Given the description of an element on the screen output the (x, y) to click on. 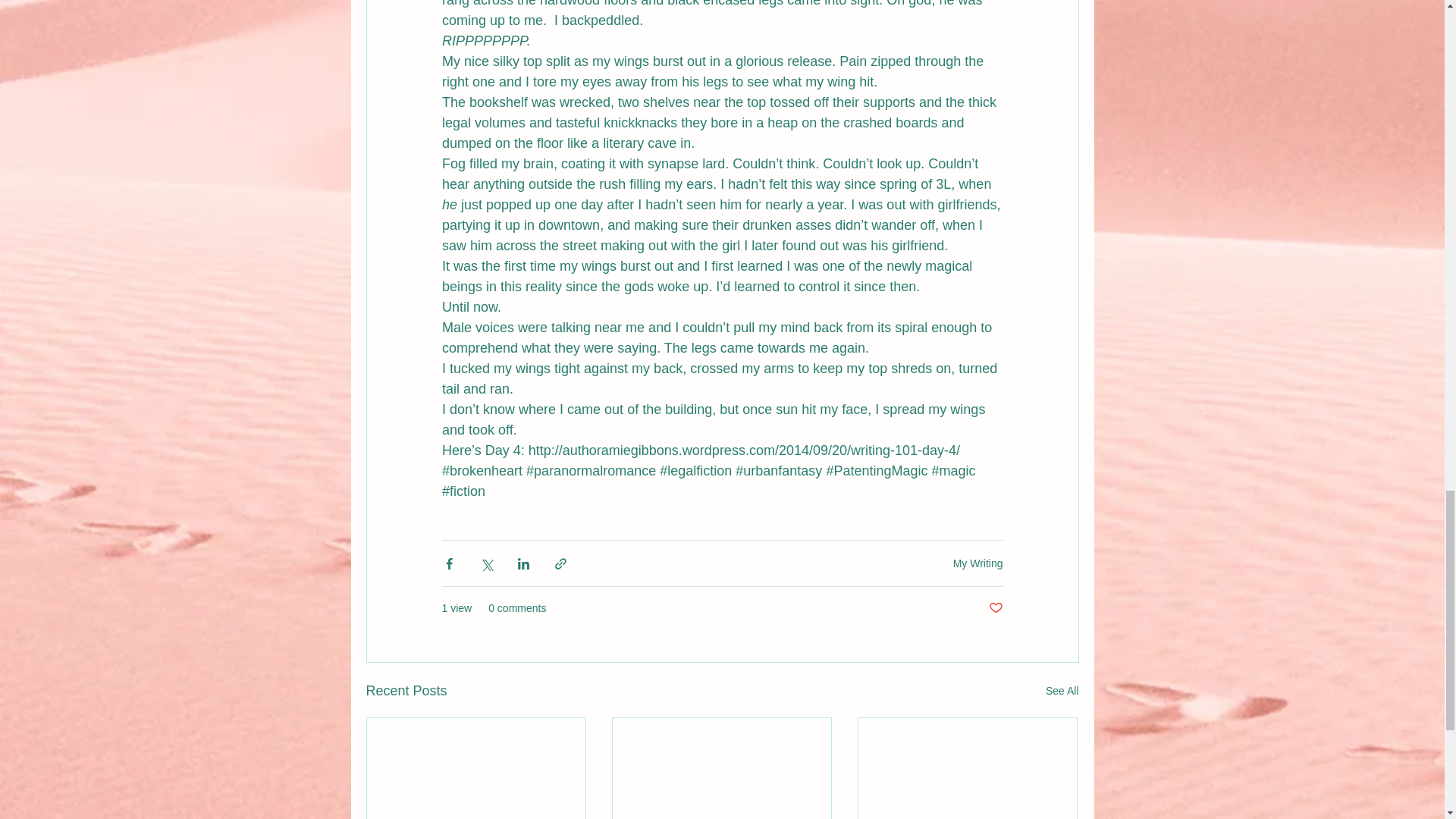
Post not marked as liked (995, 608)
My Writing (978, 562)
See All (1061, 690)
